Given the description of an element on the screen output the (x, y) to click on. 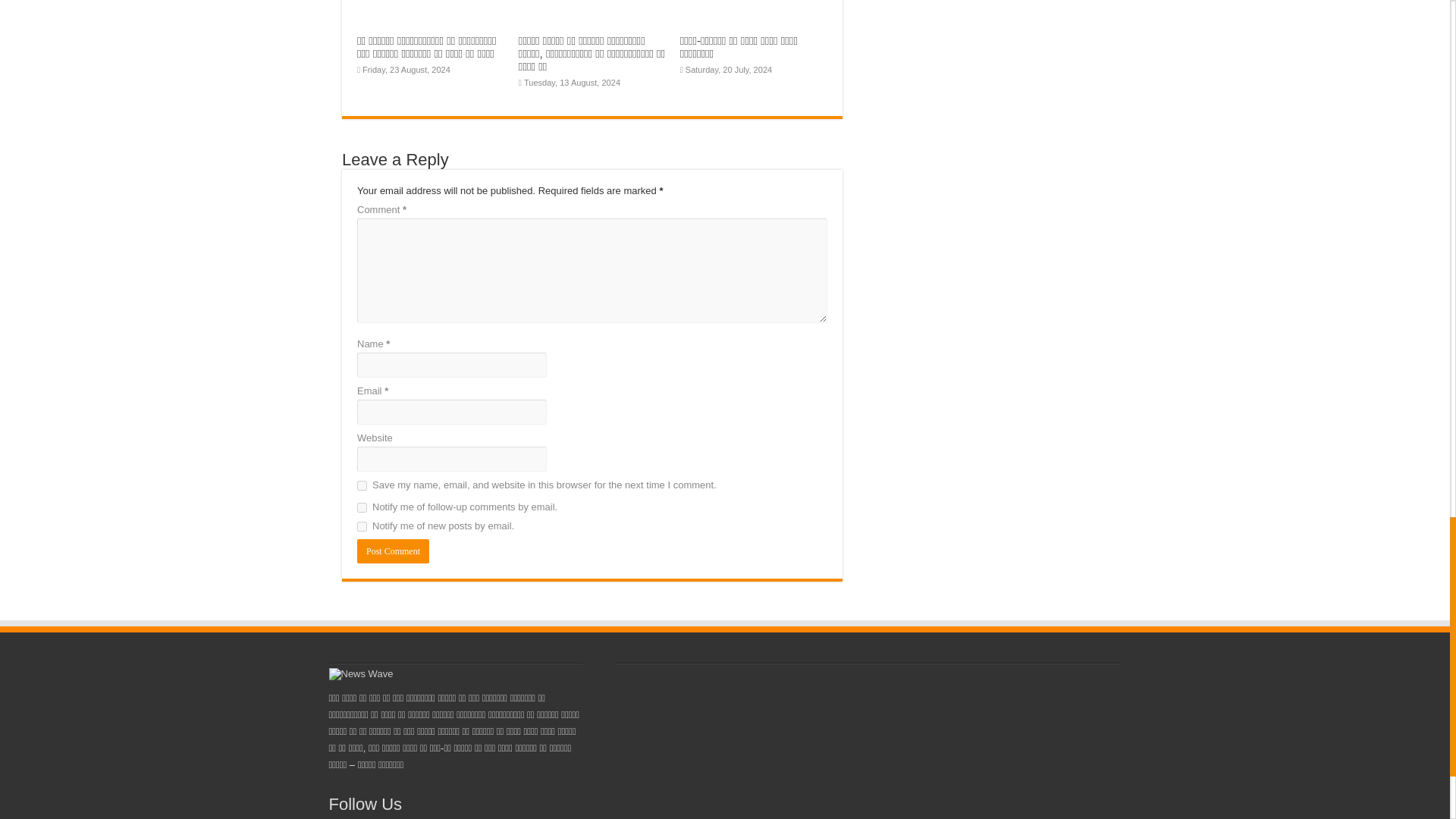
Post Comment (392, 550)
subscribe (361, 526)
subscribe (361, 507)
yes (361, 485)
